Given the description of an element on the screen output the (x, y) to click on. 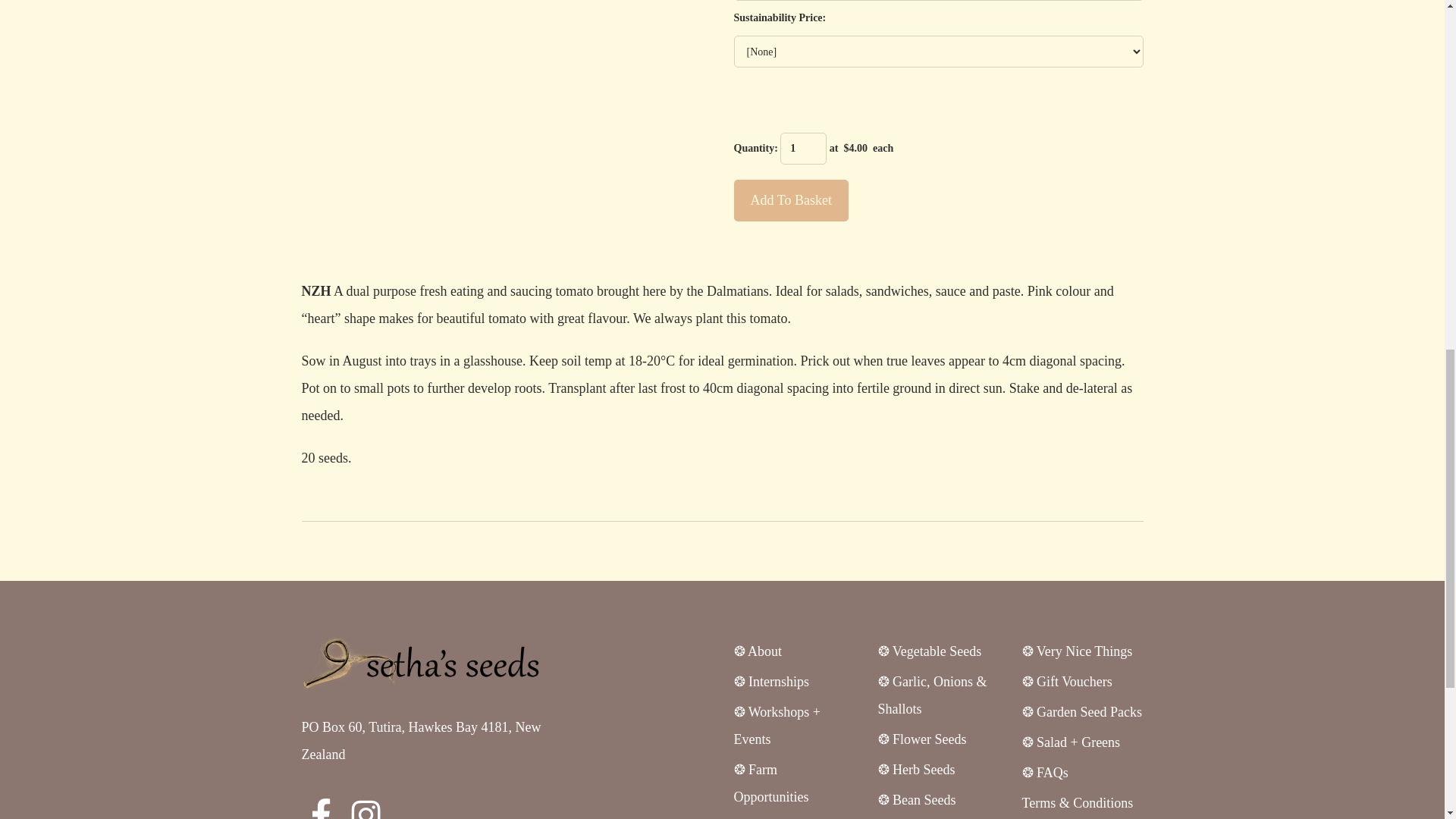
instagram (365, 809)
facebook (320, 809)
1 (803, 148)
Add To Basket (790, 200)
Sustainability Price (937, 51)
